Given the description of an element on the screen output the (x, y) to click on. 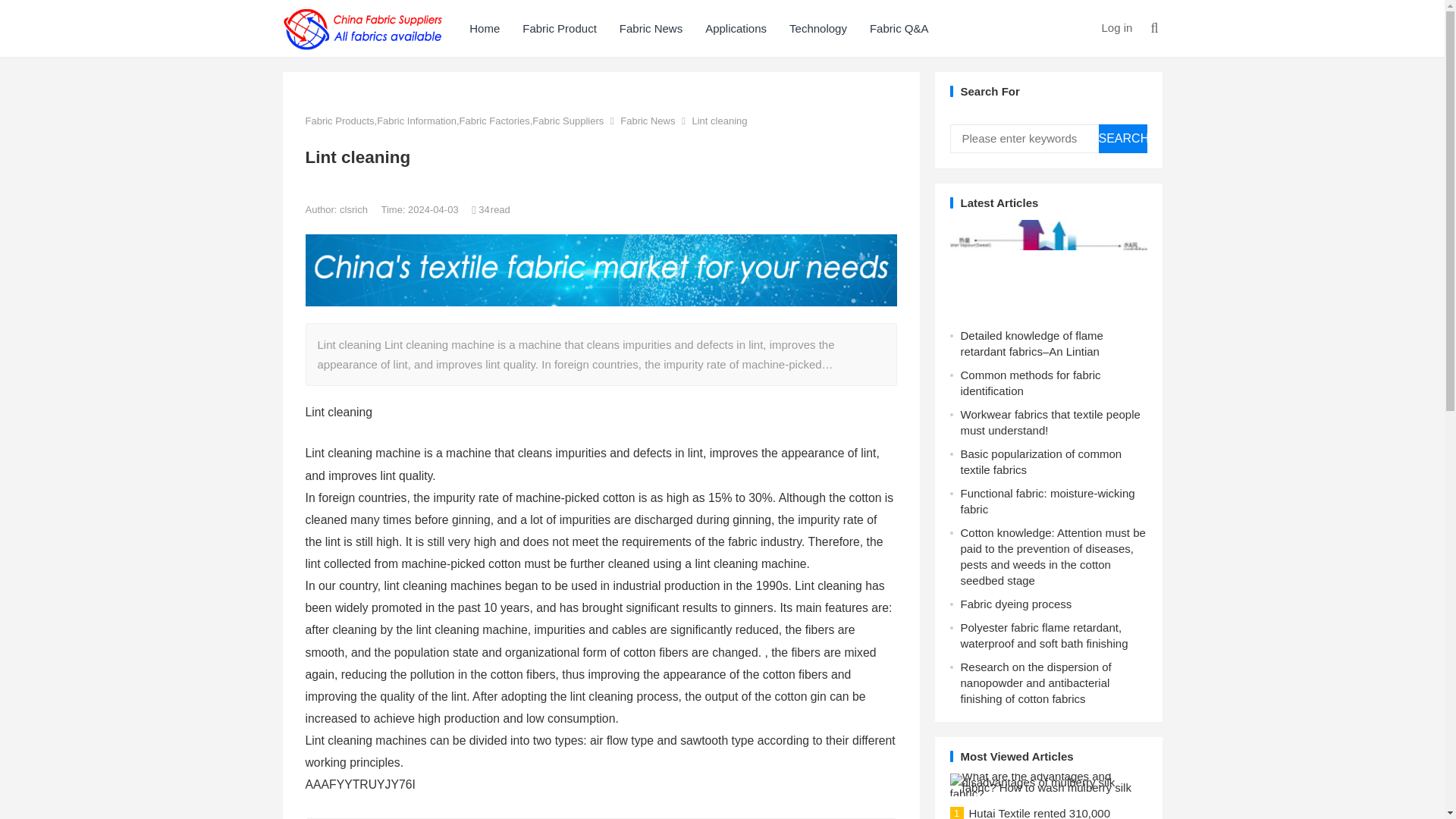
Technology (818, 28)
Applications (735, 28)
Fabric News (651, 28)
Home (484, 28)
Fabric Product (559, 28)
Log in (1116, 27)
